Given the description of an element on the screen output the (x, y) to click on. 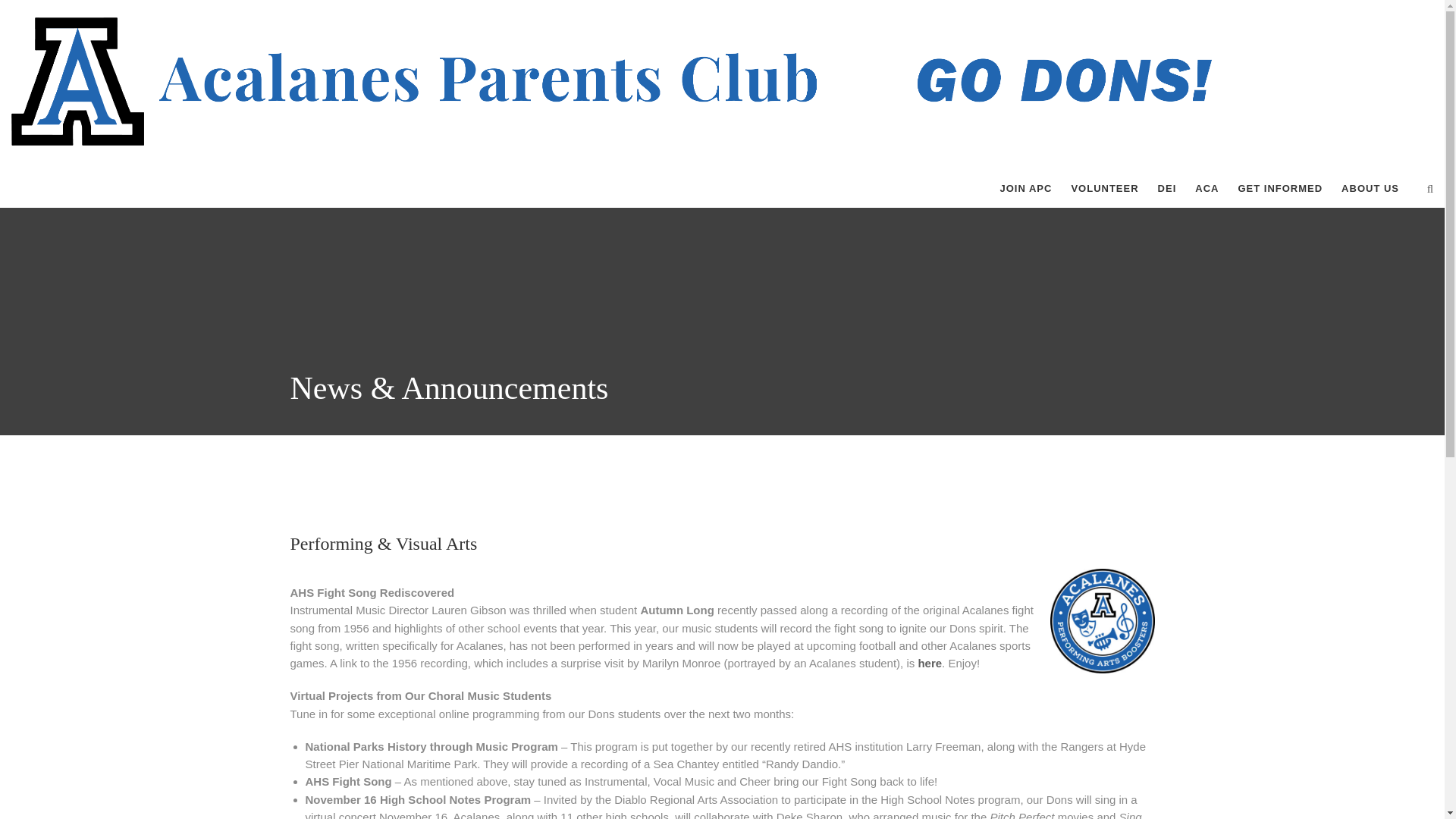
VOLUNTEER (1104, 188)
JOIN APC (1024, 188)
ABOUT US (1369, 188)
here (929, 662)
GET INFORMED (1279, 188)
